Given the description of an element on the screen output the (x, y) to click on. 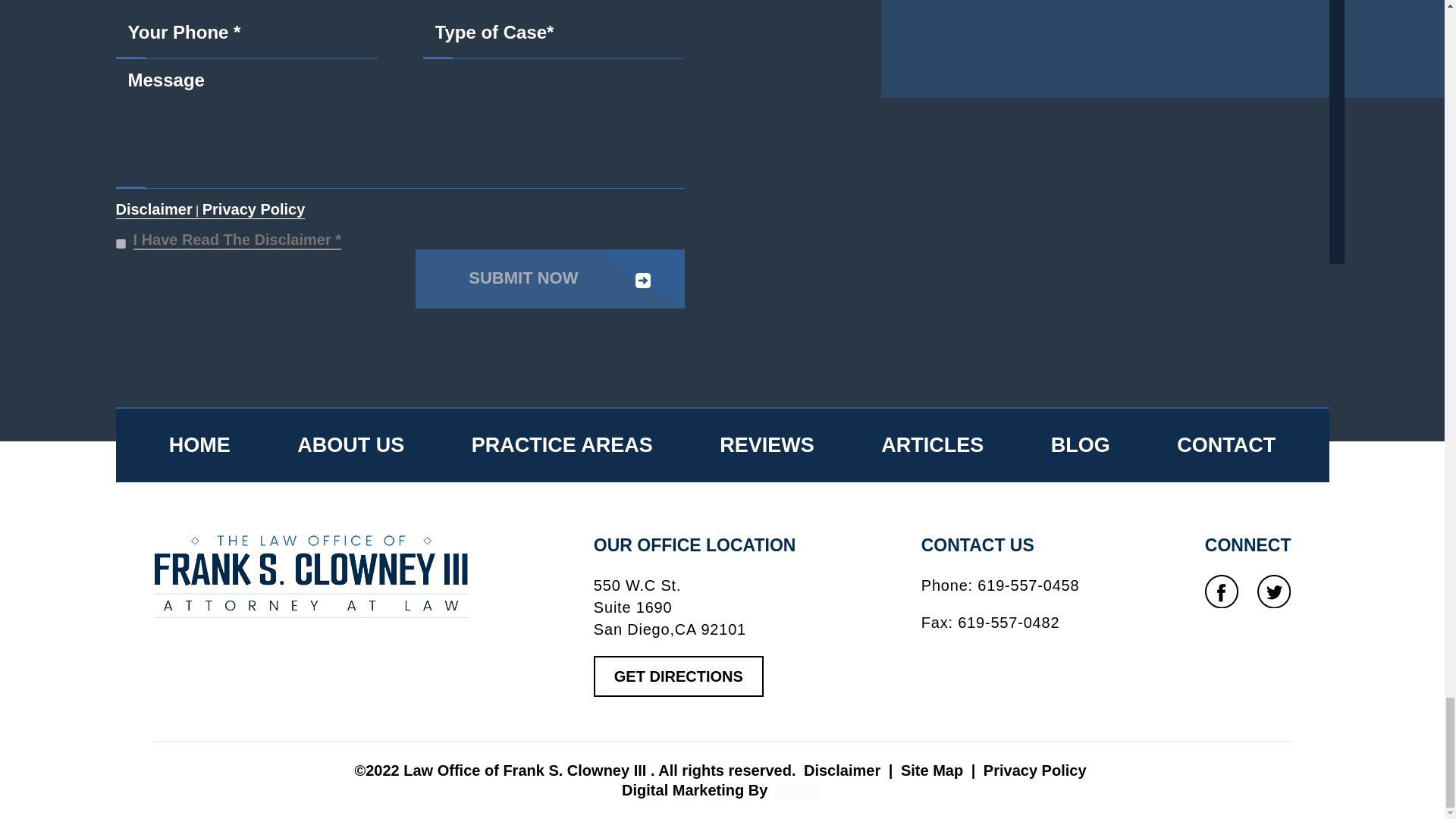
Submit Now (549, 278)
